Given the description of an element on the screen output the (x, y) to click on. 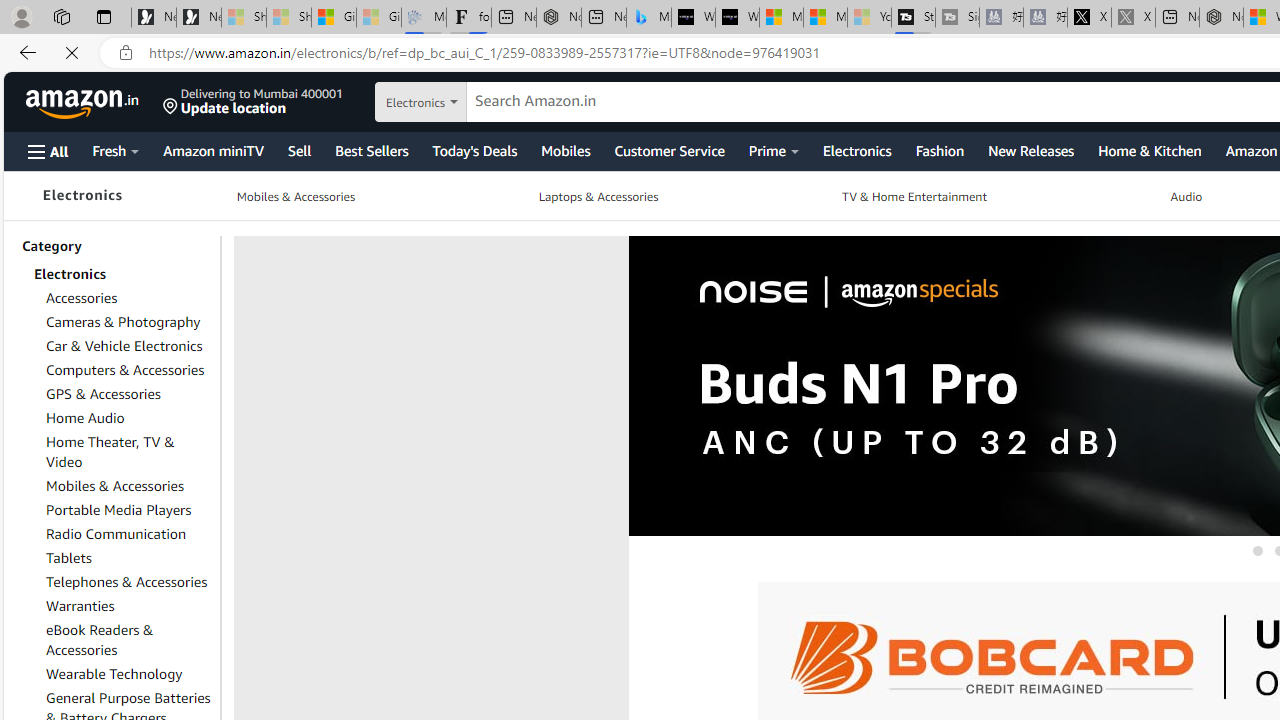
Customer Service (669, 150)
Fresh (115, 150)
Electronics (81, 196)
X - Sleeping (1133, 17)
Search in (476, 99)
Amazon.in (84, 101)
Amazon miniTV (212, 150)
Best Sellers (370, 150)
New Releases (1030, 150)
